Given the description of an element on the screen output the (x, y) to click on. 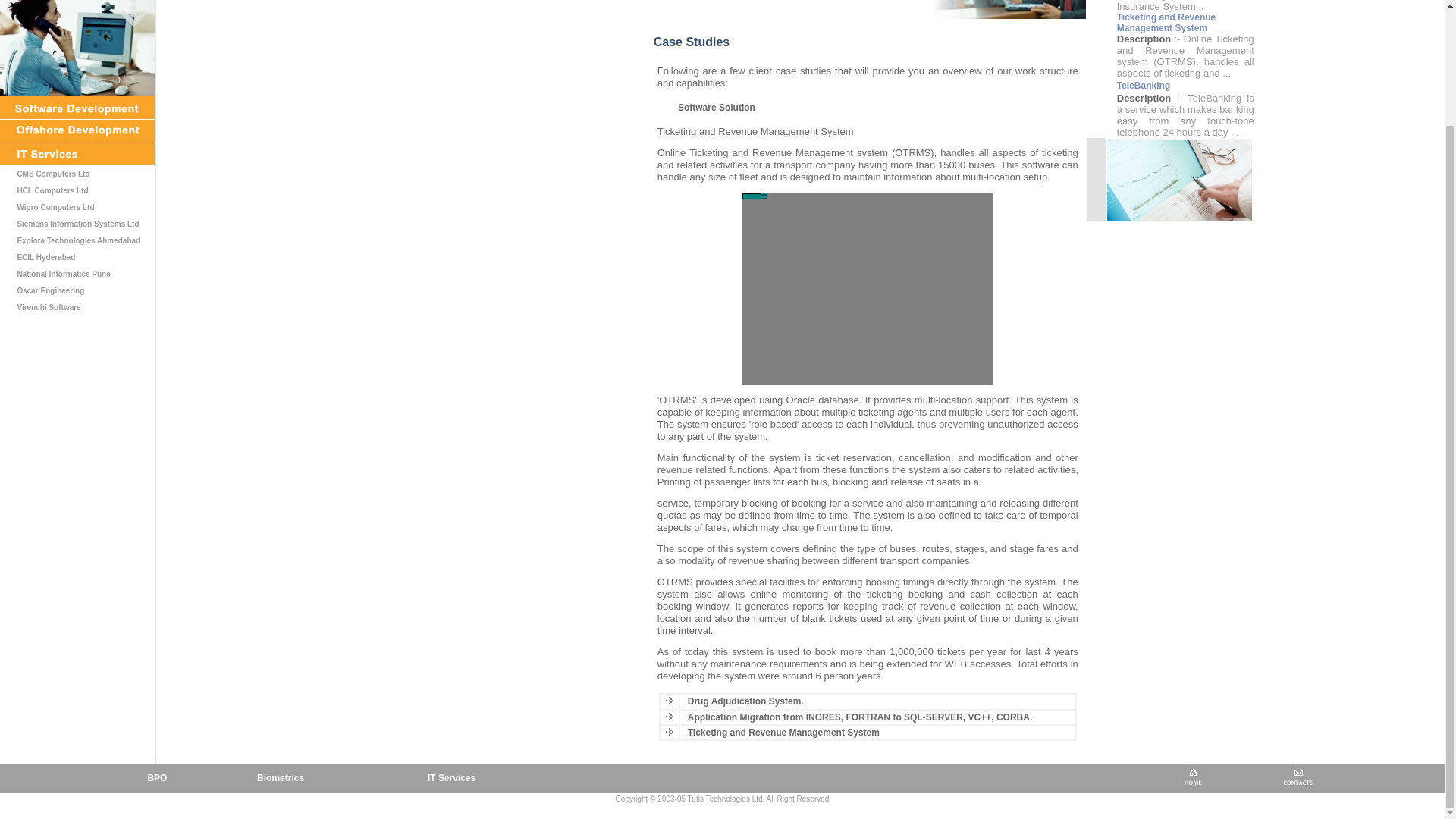
Software Solution (716, 107)
TeleBanking (1143, 85)
BPO (157, 777)
Biometrics (280, 777)
Products (280, 777)
Ticketing and Revenue Management System (1165, 22)
Clients (452, 777)
IT Services (452, 777)
Services (157, 777)
Drug Adjudication System. (745, 701)
Ticketing and Revenue Management System (783, 732)
